Given the description of an element on the screen output the (x, y) to click on. 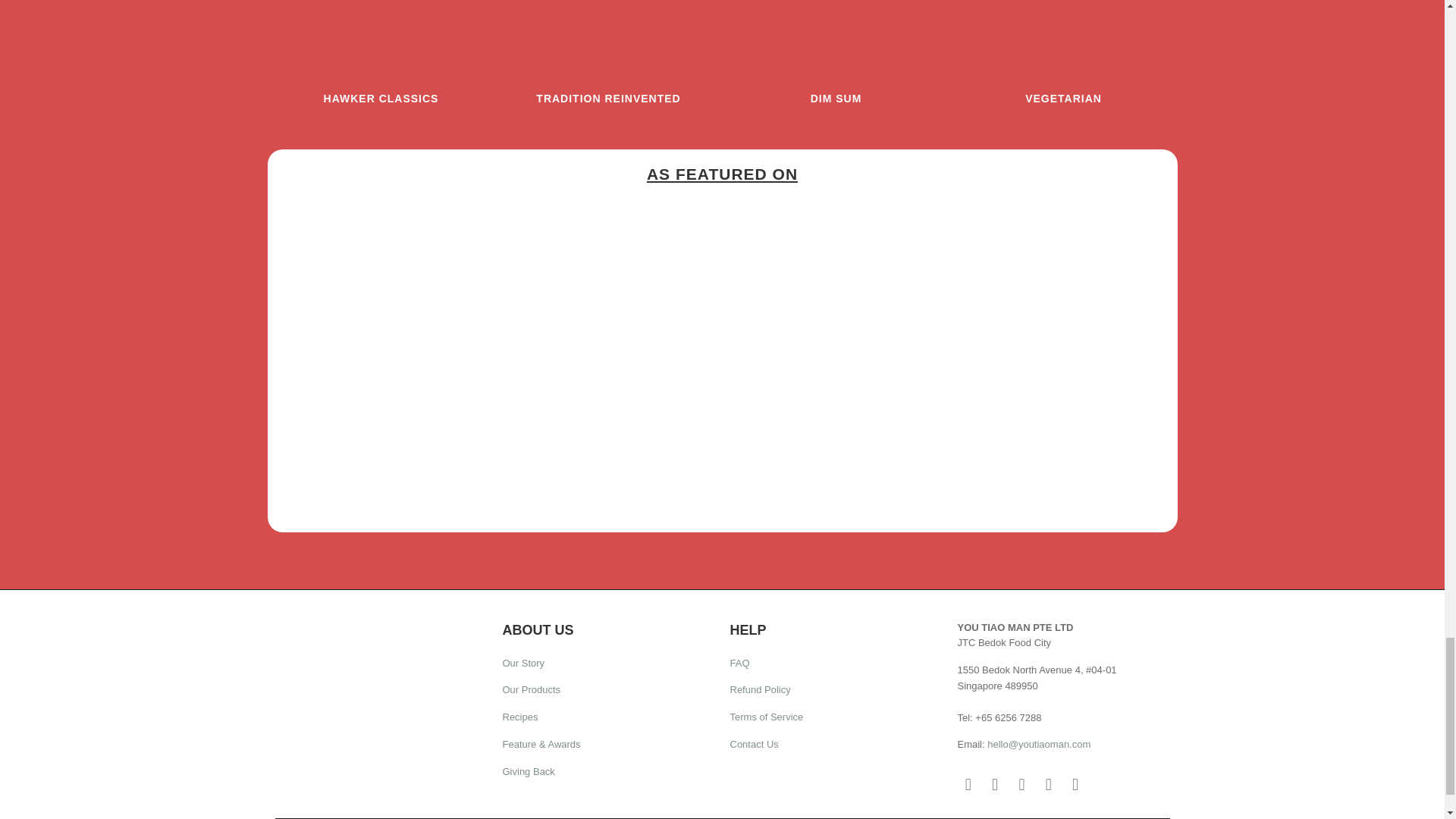
You Tiao Man Pte Ltd on Facebook (967, 784)
Email You Tiao Man Pte Ltd (1075, 784)
You Tiao Man Pte Ltd on Instagram (995, 784)
You Tiao Man Pte Ltd on YouTube (1021, 784)
You Tiao Man Pte Ltd on LinkedIn (1047, 784)
